Given the description of an element on the screen output the (x, y) to click on. 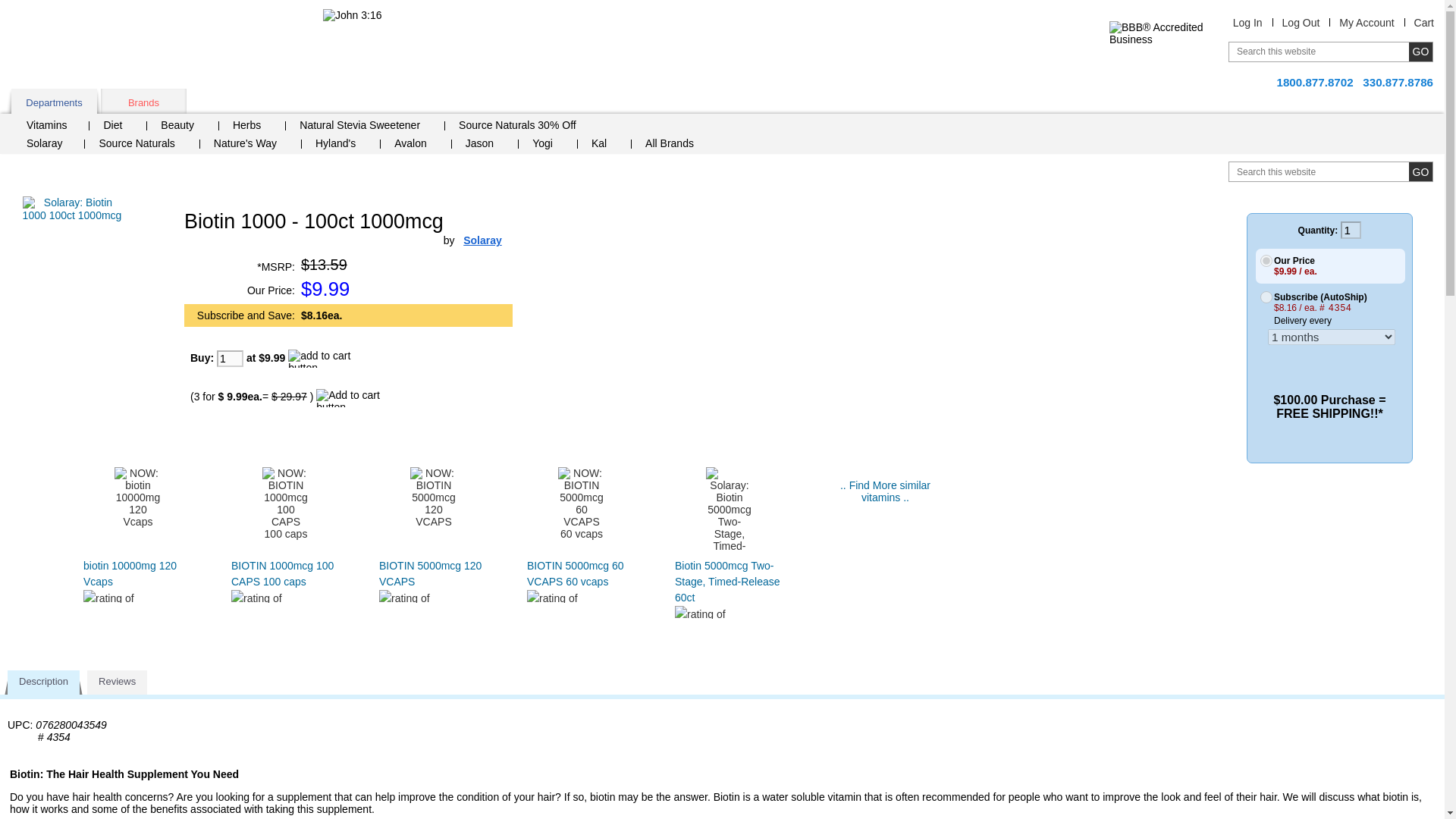
go (1420, 171)
Herbs (251, 126)
Source Naturals (141, 144)
Solaray (482, 240)
.. Find More similar vitamins .. (885, 491)
Nature's Way (250, 144)
Log In (1247, 22)
Departments (54, 100)
Kal (603, 144)
Beauty (183, 126)
